Given the description of an element on the screen output the (x, y) to click on. 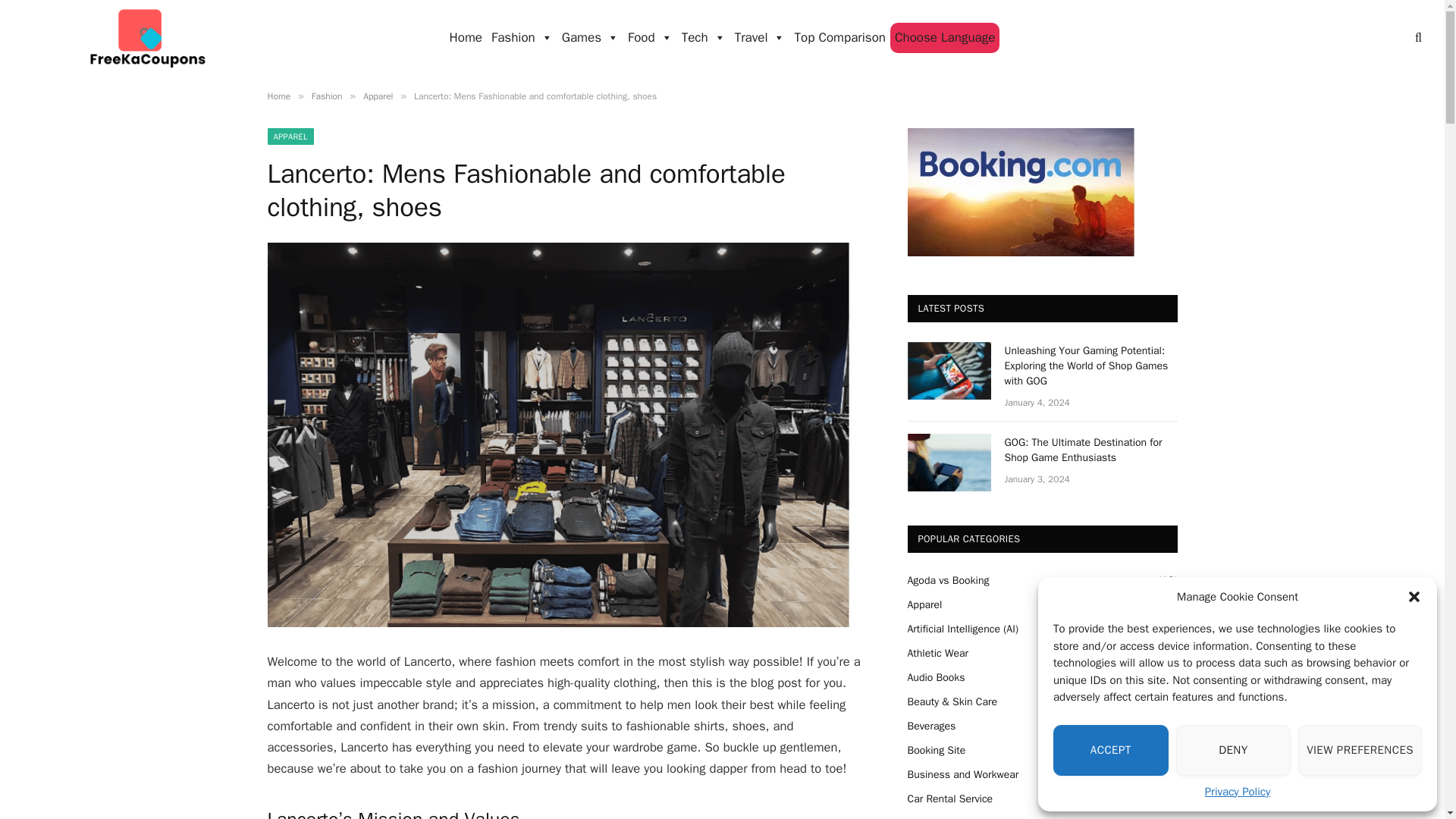
Games (590, 37)
Privacy Policy (1238, 791)
VIEW PREFERENCES (1360, 749)
Home (465, 37)
GOG: The Ultimate Destination for Shop Game Enthusiasts (948, 462)
Food (650, 37)
ACCEPT (1110, 749)
Fashion (521, 37)
